Given the description of an element on the screen output the (x, y) to click on. 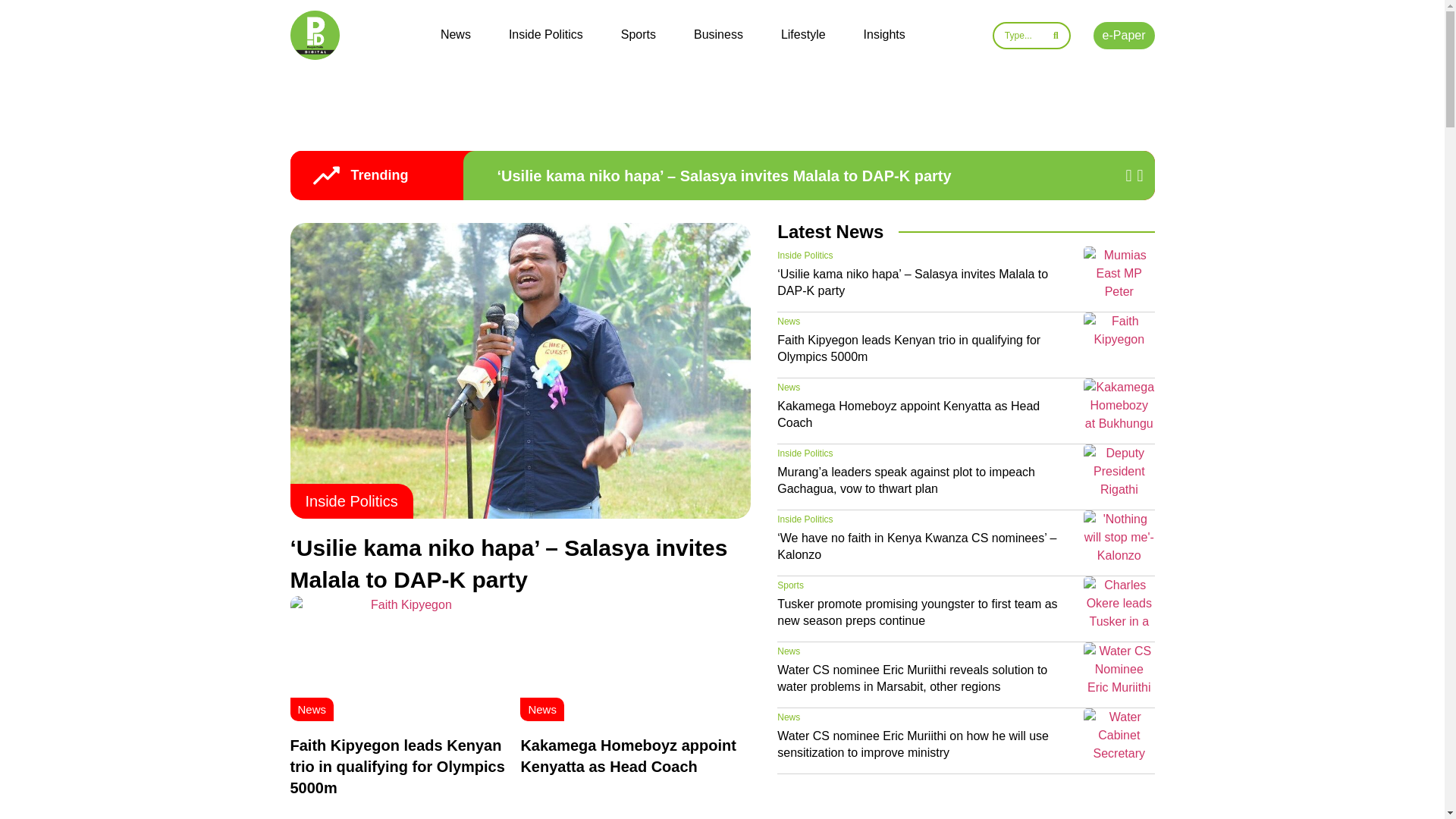
News (541, 708)
News (311, 708)
Insights (884, 34)
Inside Politics (804, 255)
Business (718, 34)
e-Paper (1123, 34)
Inside Politics (545, 34)
Sports (638, 34)
Lifestyle (802, 34)
Type... (1031, 34)
News (788, 321)
Kakamega Homeboyz appoint Kenyatta as Head Coach (627, 755)
News (455, 34)
Inside Politics (350, 501)
